Given the description of an element on the screen output the (x, y) to click on. 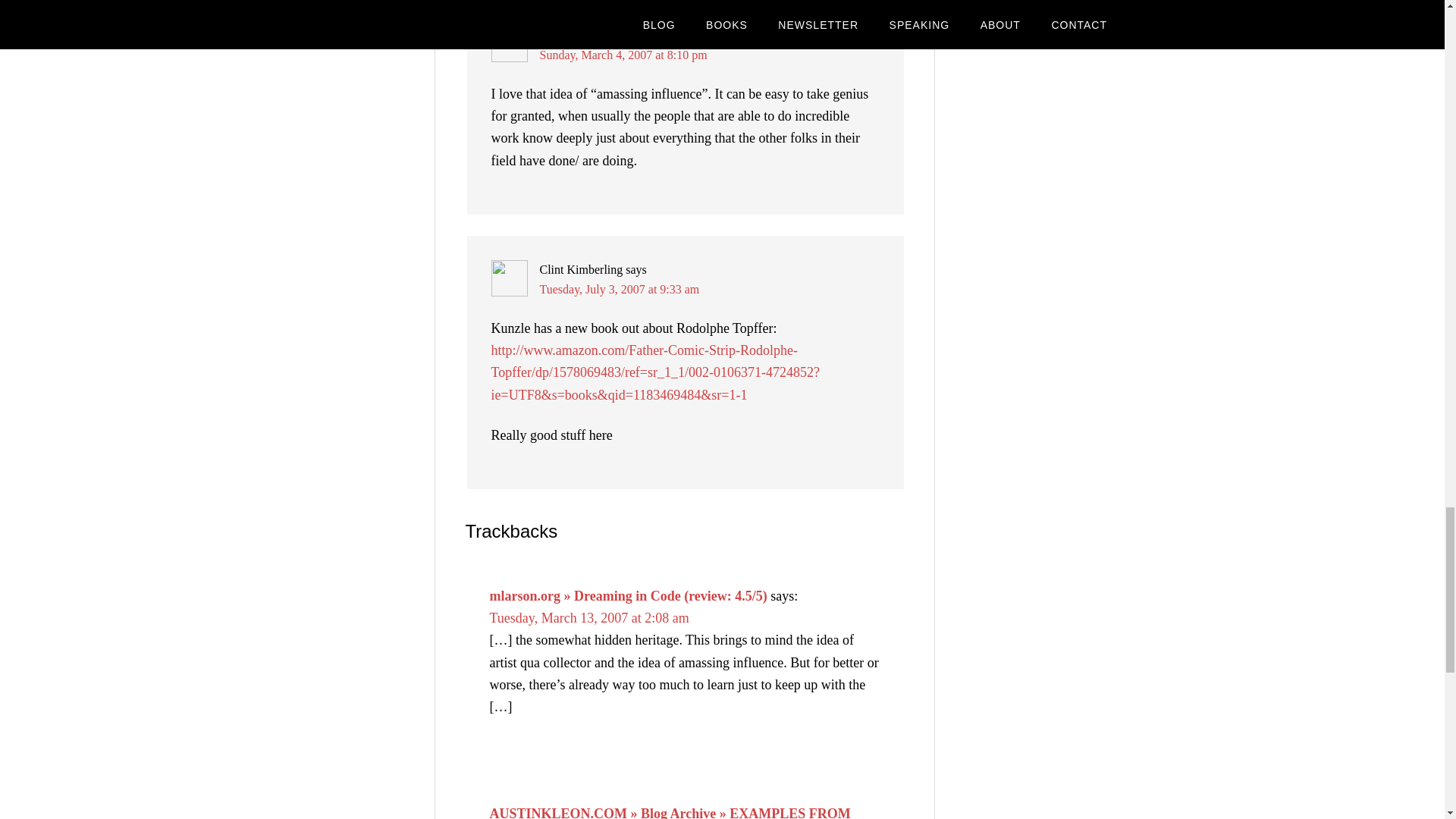
Tuesday, July 3, 2007 at 9:33 am (620, 288)
Sunday, March 4, 2007 at 8:10 pm (623, 54)
Tuesday, March 13, 2007 at 2:08 am (588, 617)
Mark (553, 34)
